Given the description of an element on the screen output the (x, y) to click on. 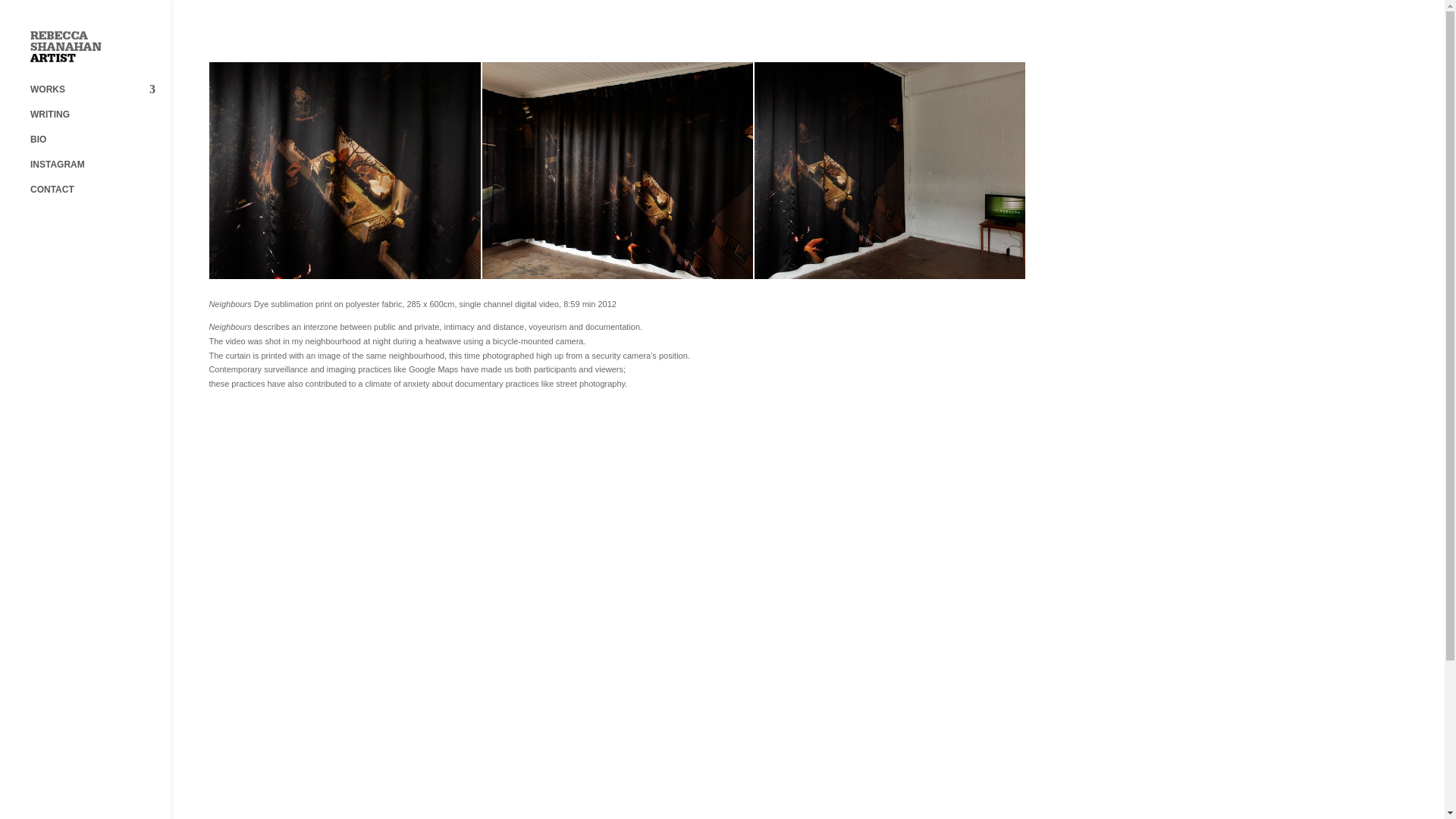
WRITING (100, 121)
CONTACT (100, 196)
WORKS (100, 96)
INSTAGRAM (100, 171)
BIO (100, 146)
